Given the description of an element on the screen output the (x, y) to click on. 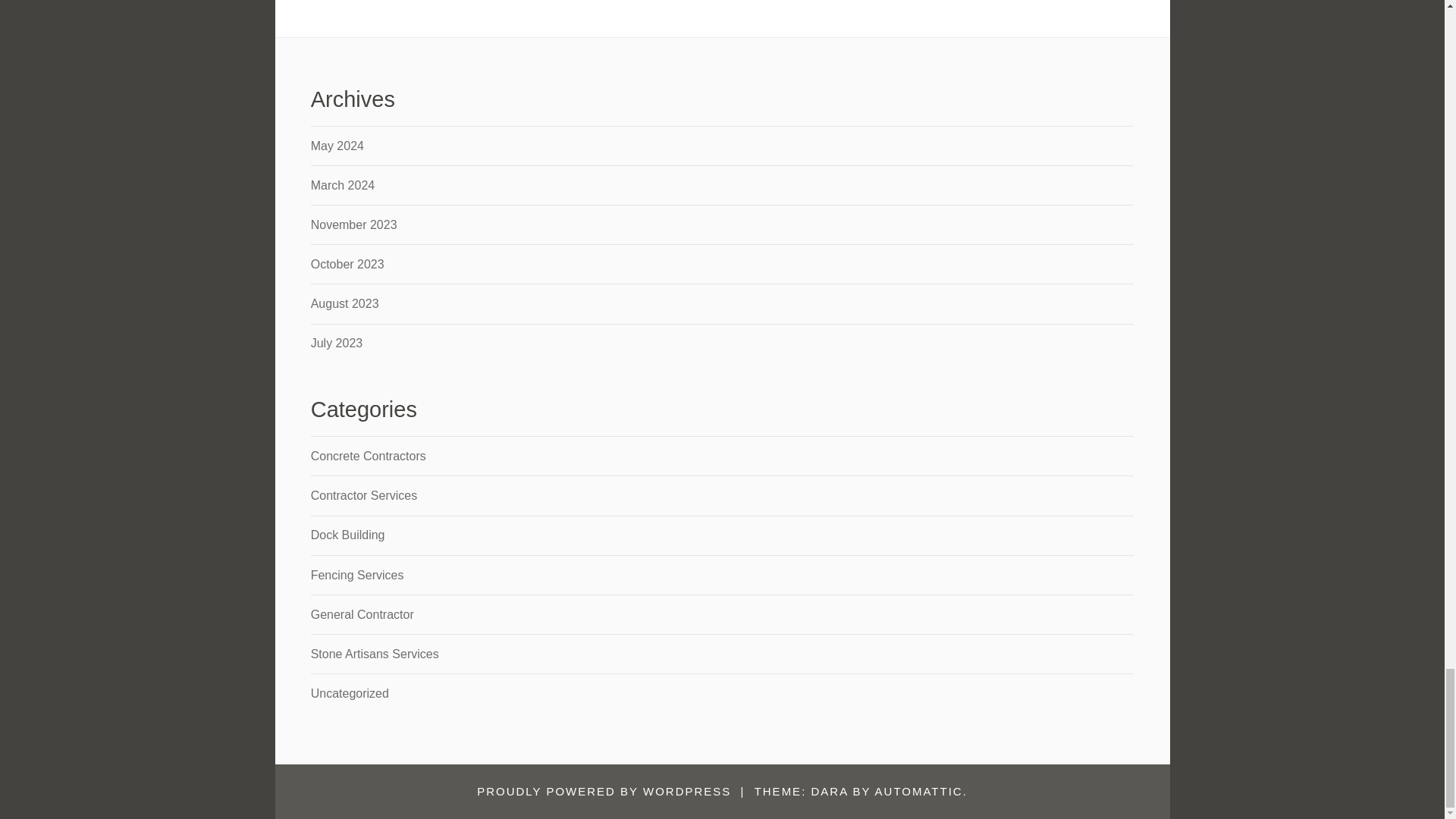
Uncategorized (349, 693)
Contractor Services (364, 495)
March 2024 (343, 185)
August 2023 (344, 303)
July 2023 (336, 342)
Dock Building (348, 534)
AUTOMATTIC (918, 790)
General Contractor (362, 614)
October 2023 (347, 264)
Stone Artisans Services (375, 653)
November 2023 (354, 224)
Concrete Contractors (368, 455)
PROUDLY POWERED BY WORDPRESS (603, 790)
Fencing Services (357, 574)
May 2024 (337, 145)
